Given the description of an element on the screen output the (x, y) to click on. 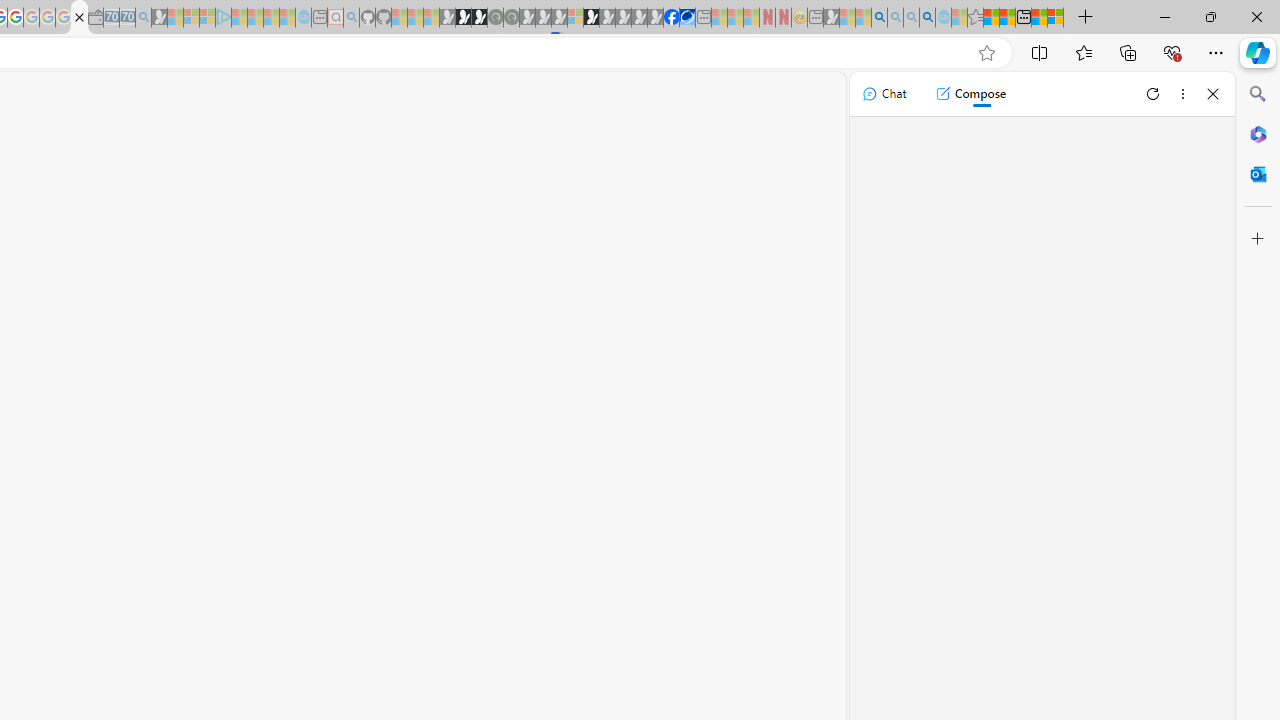
Play Zoo Boom in your browser | Games from Microsoft Start (463, 17)
